Given the description of an element on the screen output the (x, y) to click on. 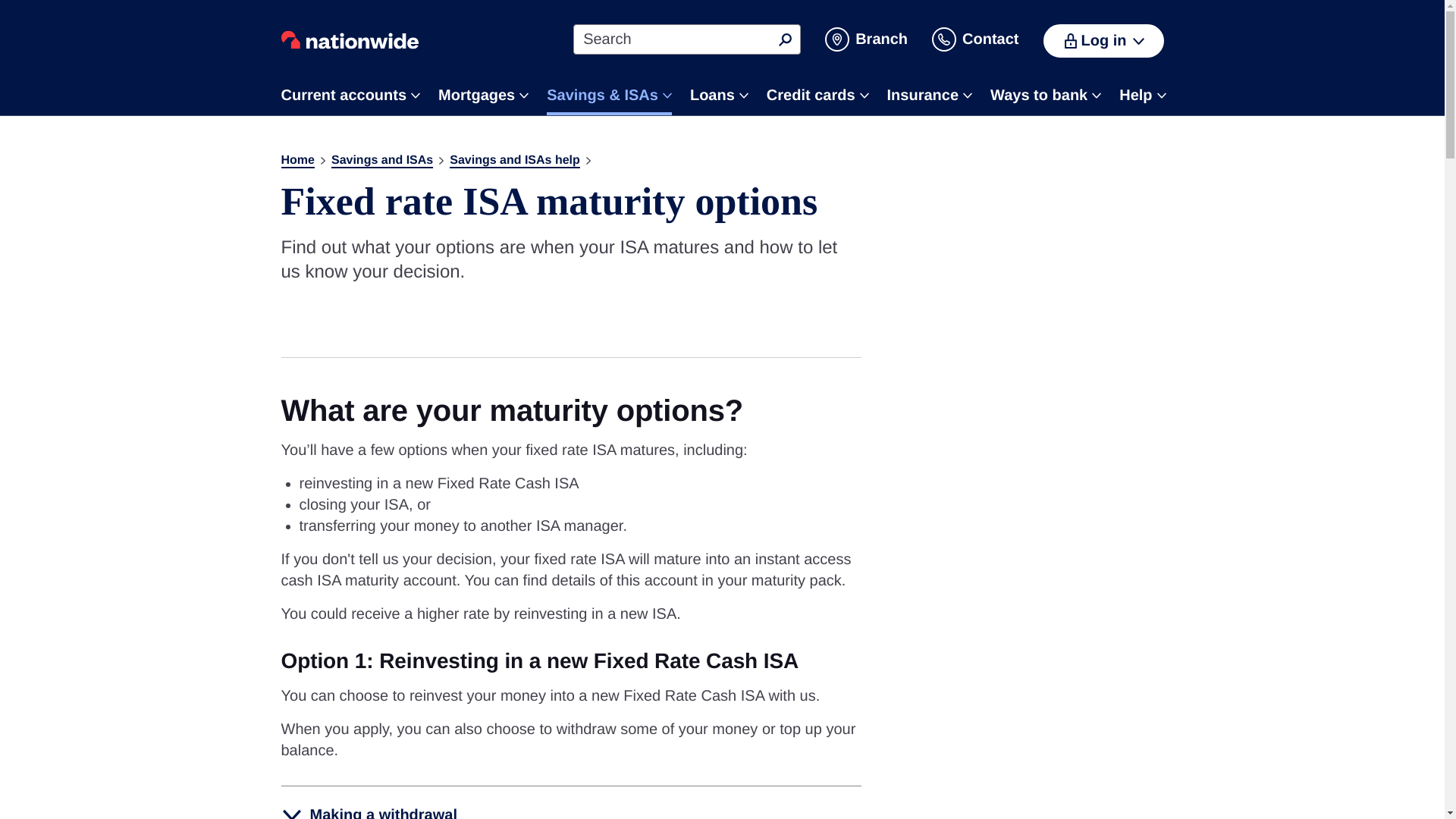
Current accounts (350, 95)
Loans (719, 95)
Insurance (929, 95)
Savings and ISAs help (514, 160)
Help (1142, 95)
Home (297, 160)
Search (784, 39)
Savings and ISAs (381, 160)
Making a withdrawal (570, 802)
Mortgages (483, 95)
Contact (974, 39)
Log in (1103, 40)
Credit cards (818, 95)
Ways to bank (1045, 95)
Branch (866, 39)
